Given the description of an element on the screen output the (x, y) to click on. 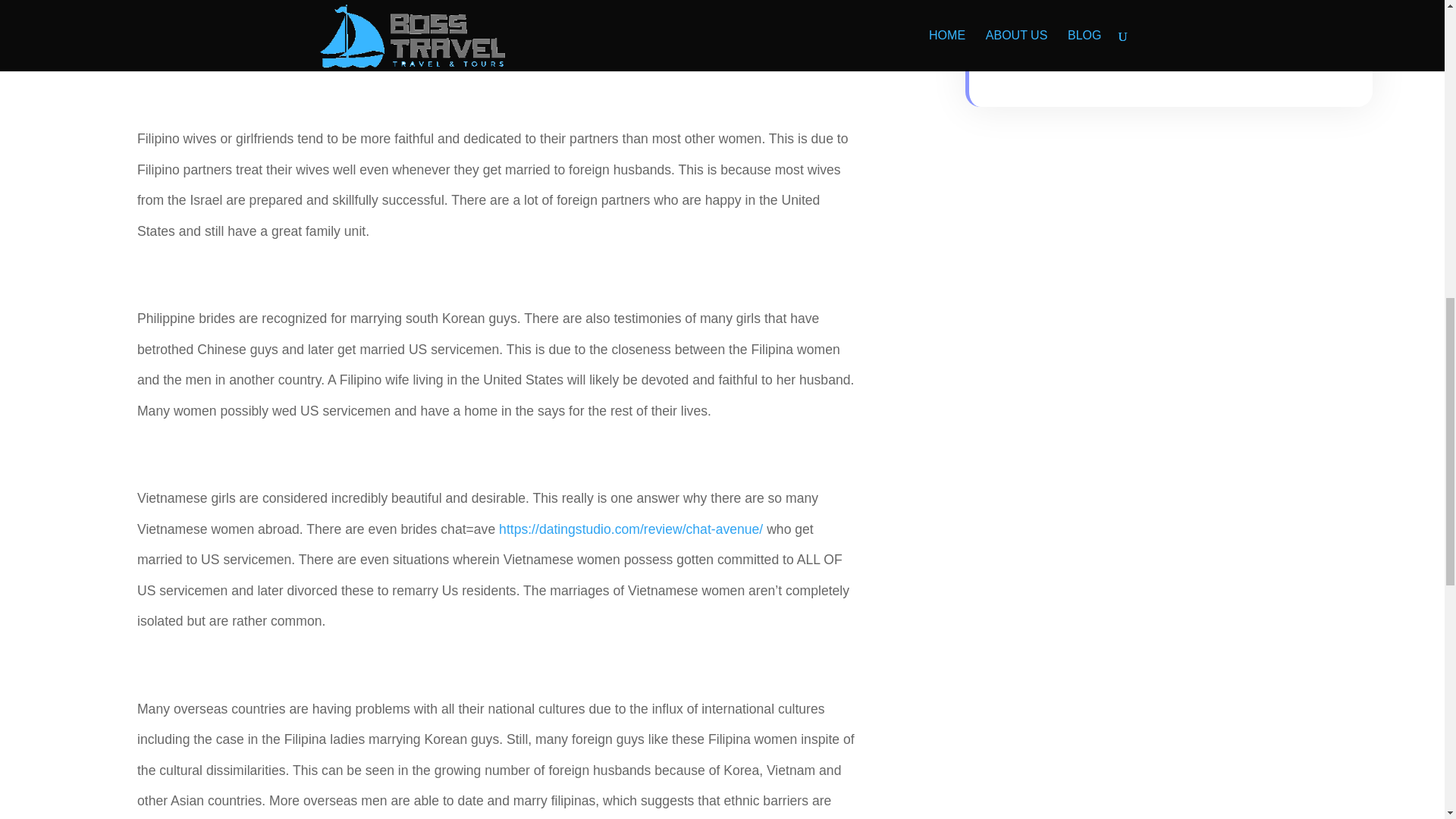
Submit (1267, 22)
